Given the description of an element on the screen output the (x, y) to click on. 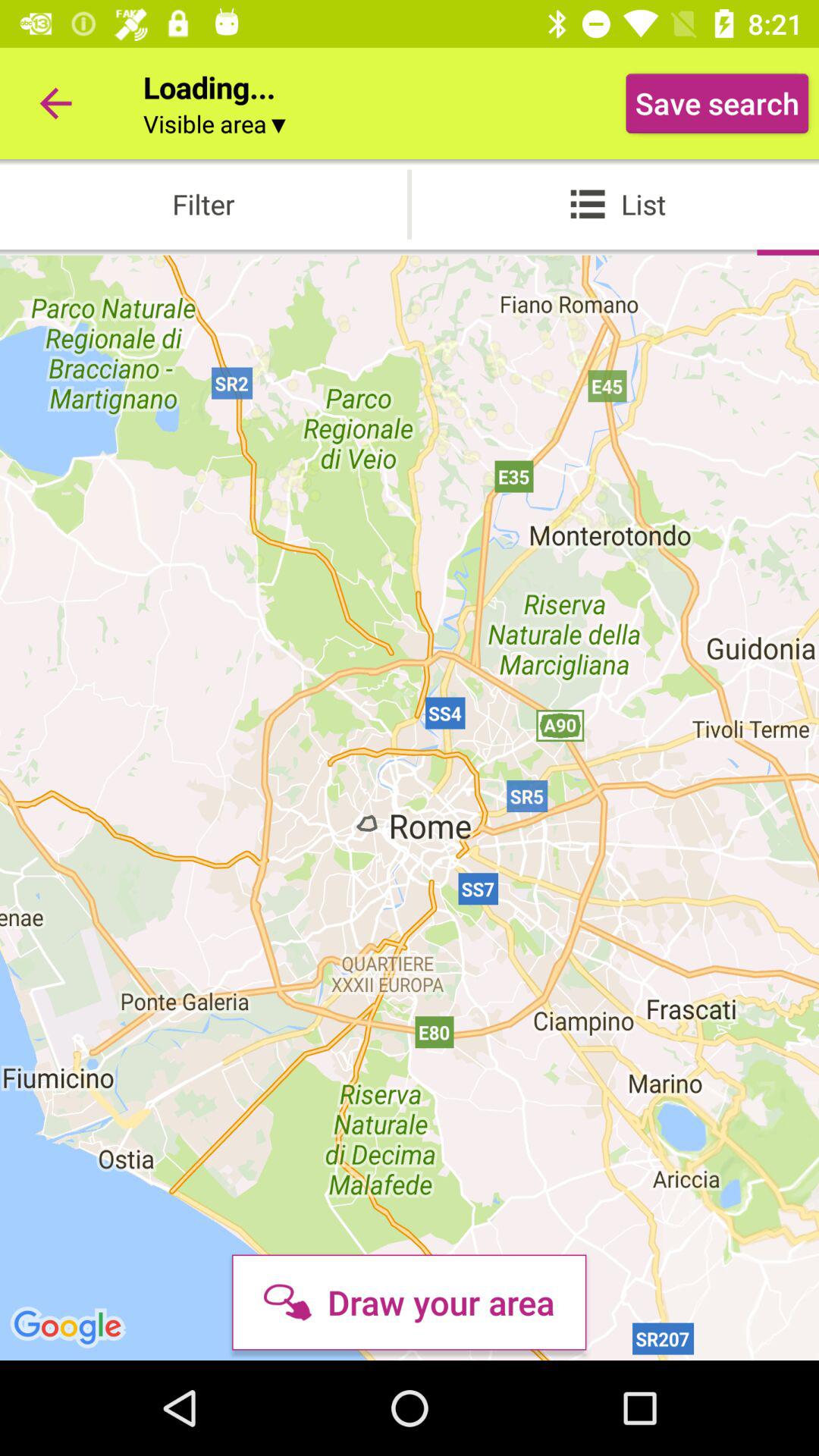
open the icon to the left of loading... icon (55, 103)
